Given the description of an element on the screen output the (x, y) to click on. 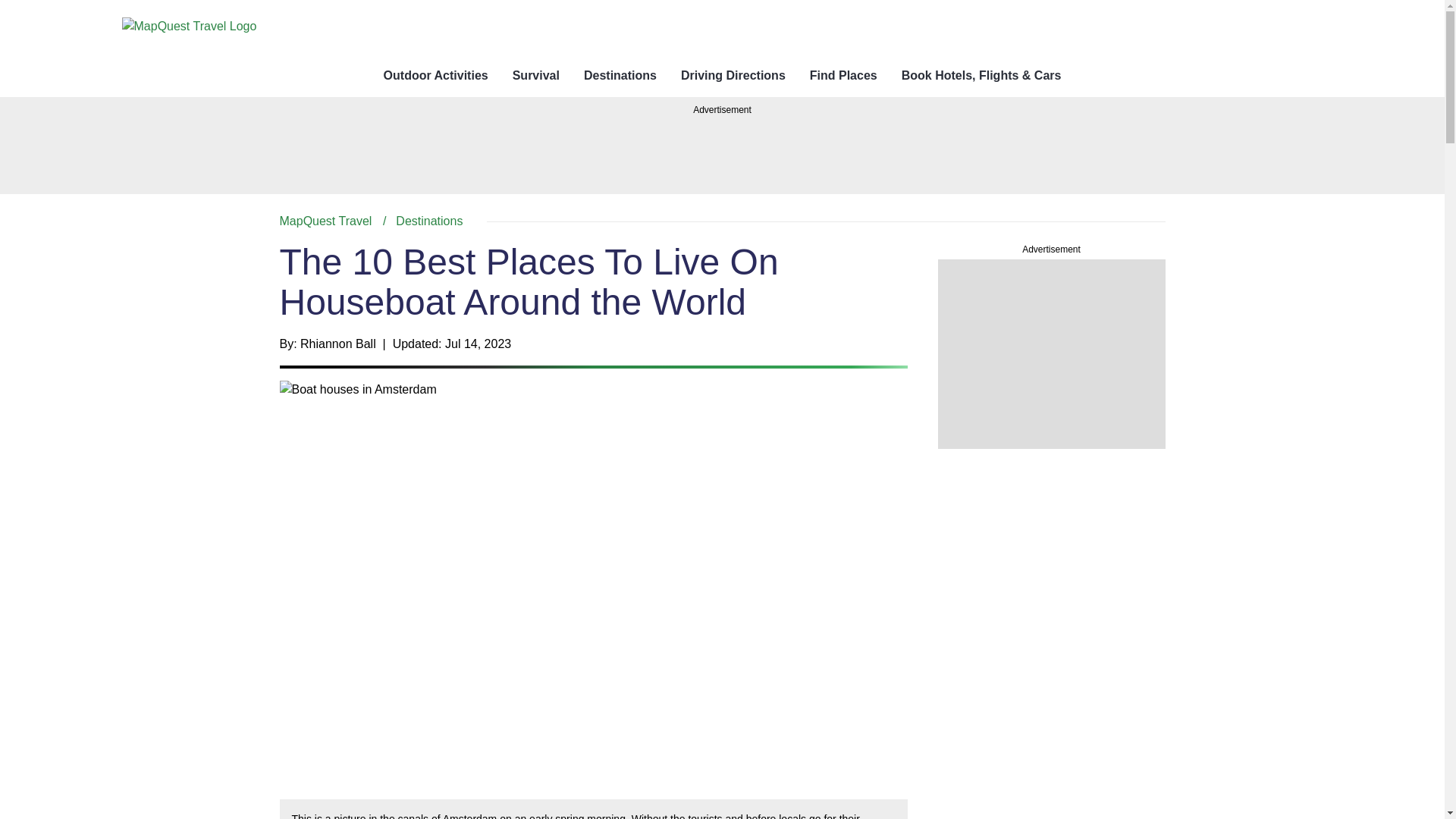
Destinations (619, 75)
Outdoor Activities (435, 75)
Driving Directions (733, 75)
Find Places (843, 75)
Destinations (429, 220)
Survival (721, 221)
MapQuest Travel (535, 75)
